Given the description of an element on the screen output the (x, y) to click on. 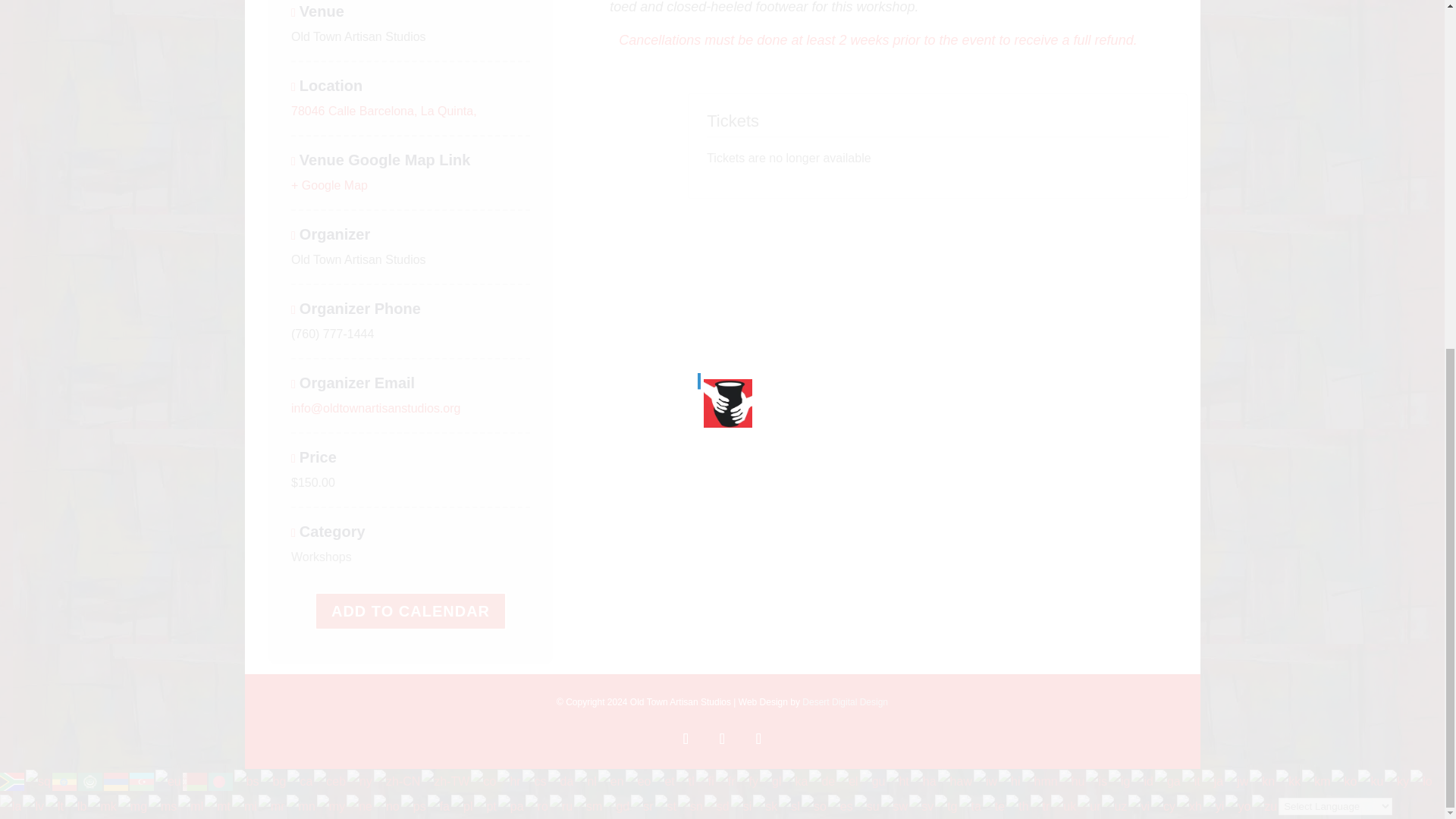
Click to view a Google Map (329, 185)
Afrikaans (13, 780)
Follow on Instagram (721, 738)
Follow on Facebook (684, 738)
Follow on Youtube (757, 738)
Albanian (39, 780)
Amharic (65, 780)
